Given the description of an element on the screen output the (x, y) to click on. 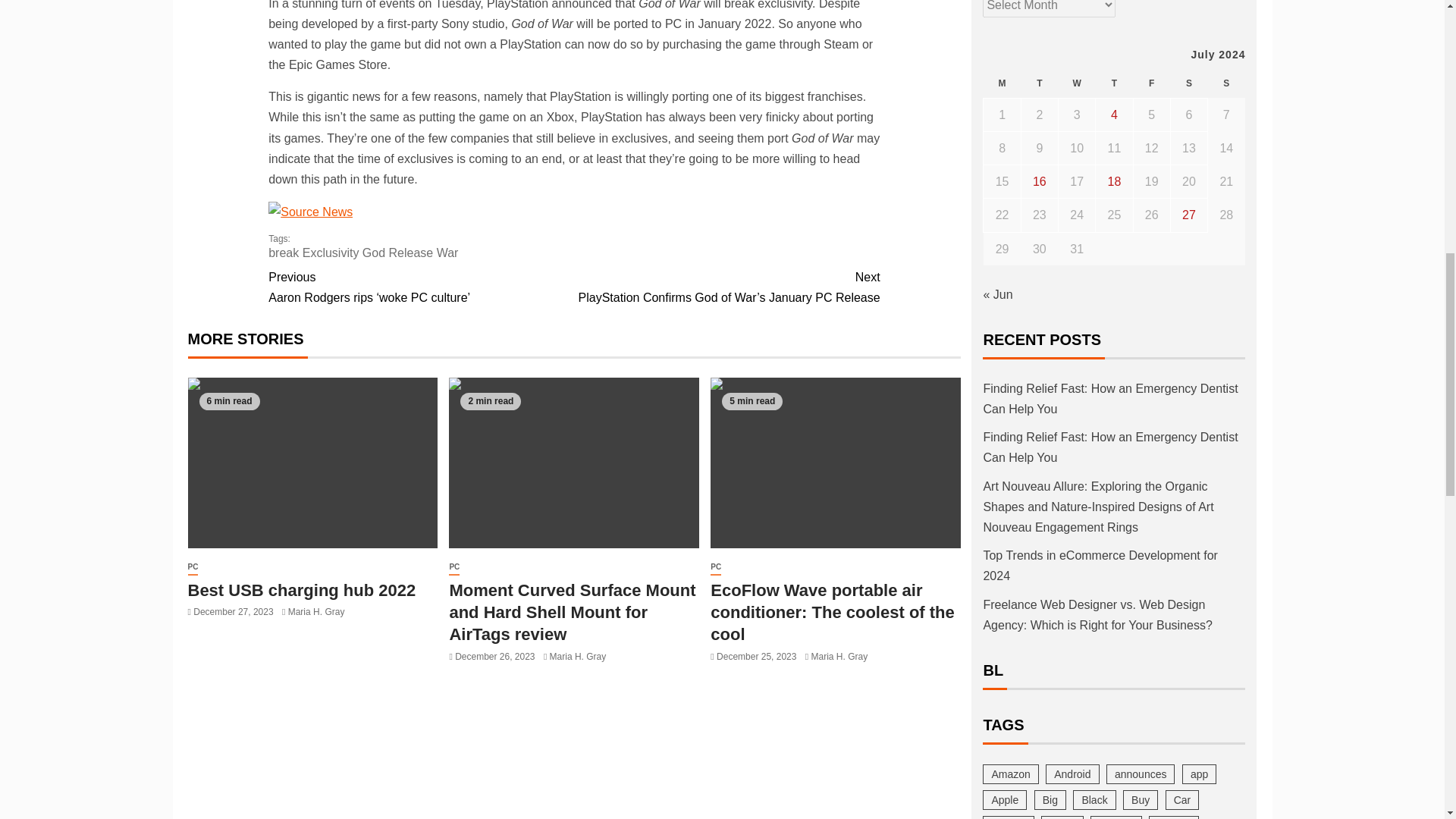
break (282, 252)
Exclusivity (330, 252)
Release (410, 252)
Thursday (1114, 83)
Saturday (1188, 83)
Monday (1002, 83)
God (373, 252)
Best USB charging hub 2022 (312, 462)
Sunday (1226, 83)
Wednesday (1077, 83)
War (447, 252)
Tags: (573, 246)
Tuesday (1039, 83)
